Given the description of an element on the screen output the (x, y) to click on. 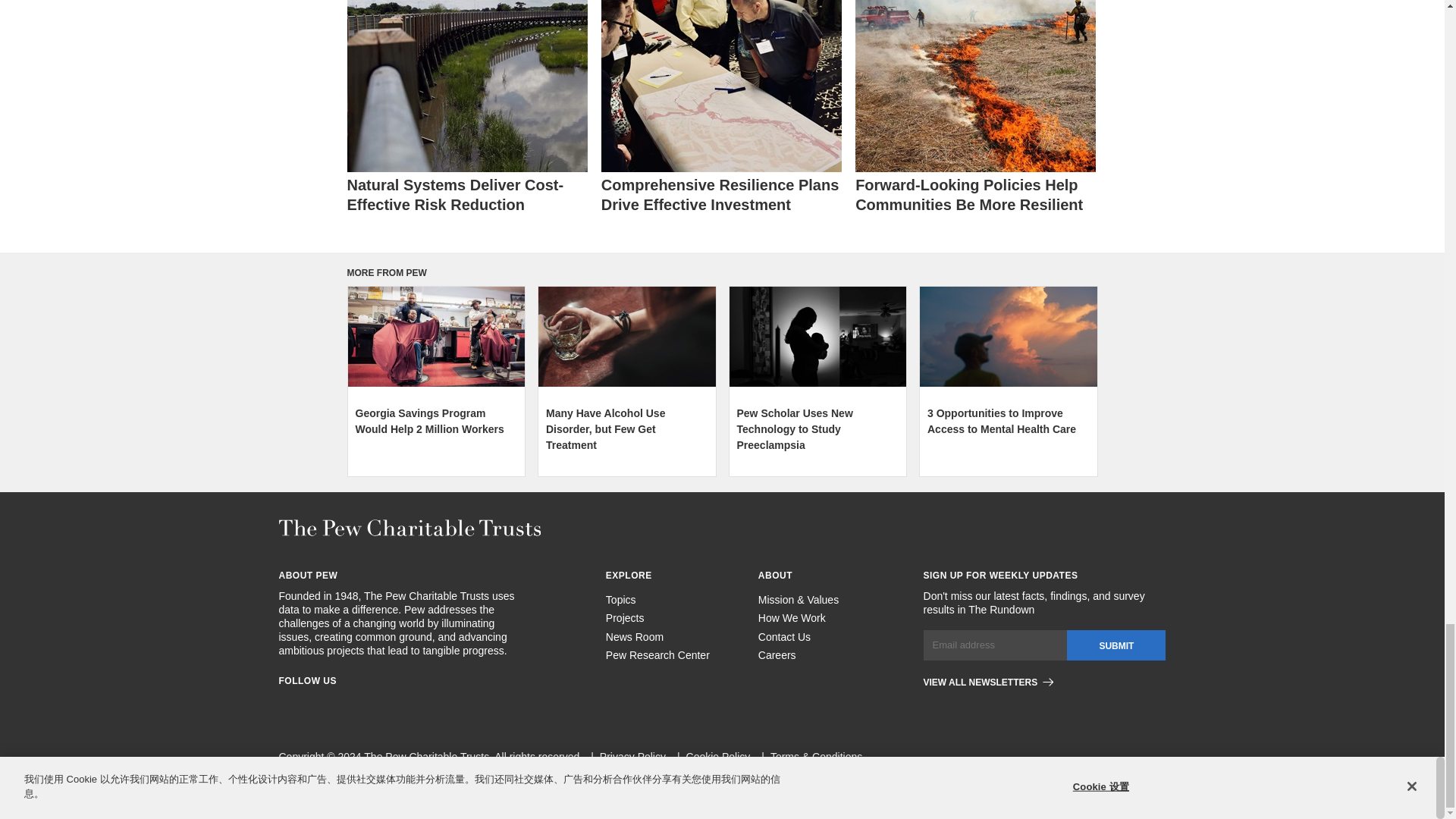
Instagram (312, 704)
Follow us on twitter  (367, 704)
RSS (394, 704)
Facebook (285, 704)
YouTube (421, 704)
Getty Images (435, 335)
LinkedIn (340, 704)
